Given the description of an element on the screen output the (x, y) to click on. 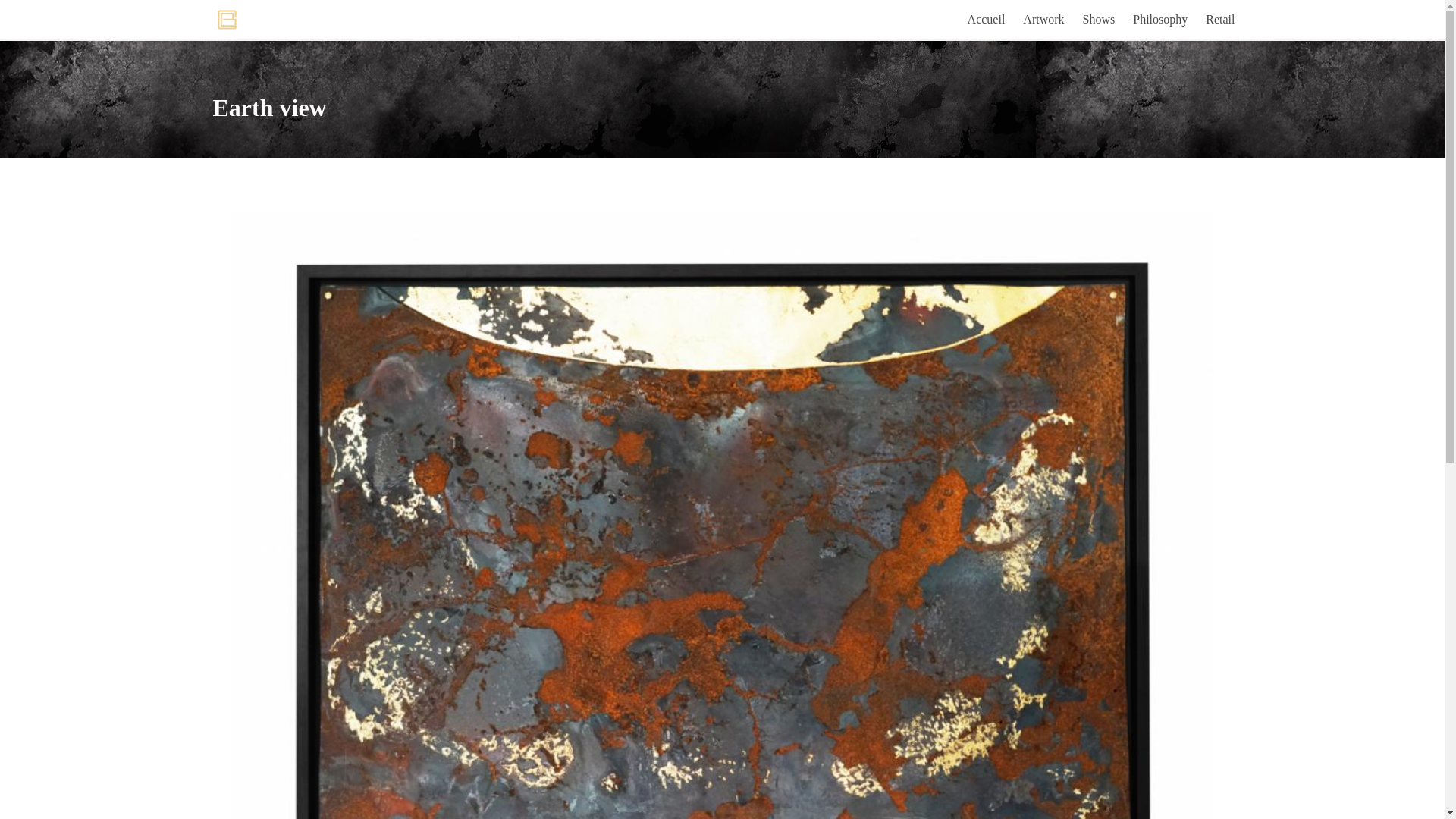
Philosophy Element type: text (1159, 19)
Retail Element type: text (1219, 19)
Shows Element type: text (1098, 19)
Artwork Element type: text (1043, 19)
Aller au contenu principal Element type: text (0, 0)
Accueil Element type: hover (226, 19)
Accueil Element type: text (986, 19)
